Given the description of an element on the screen output the (x, y) to click on. 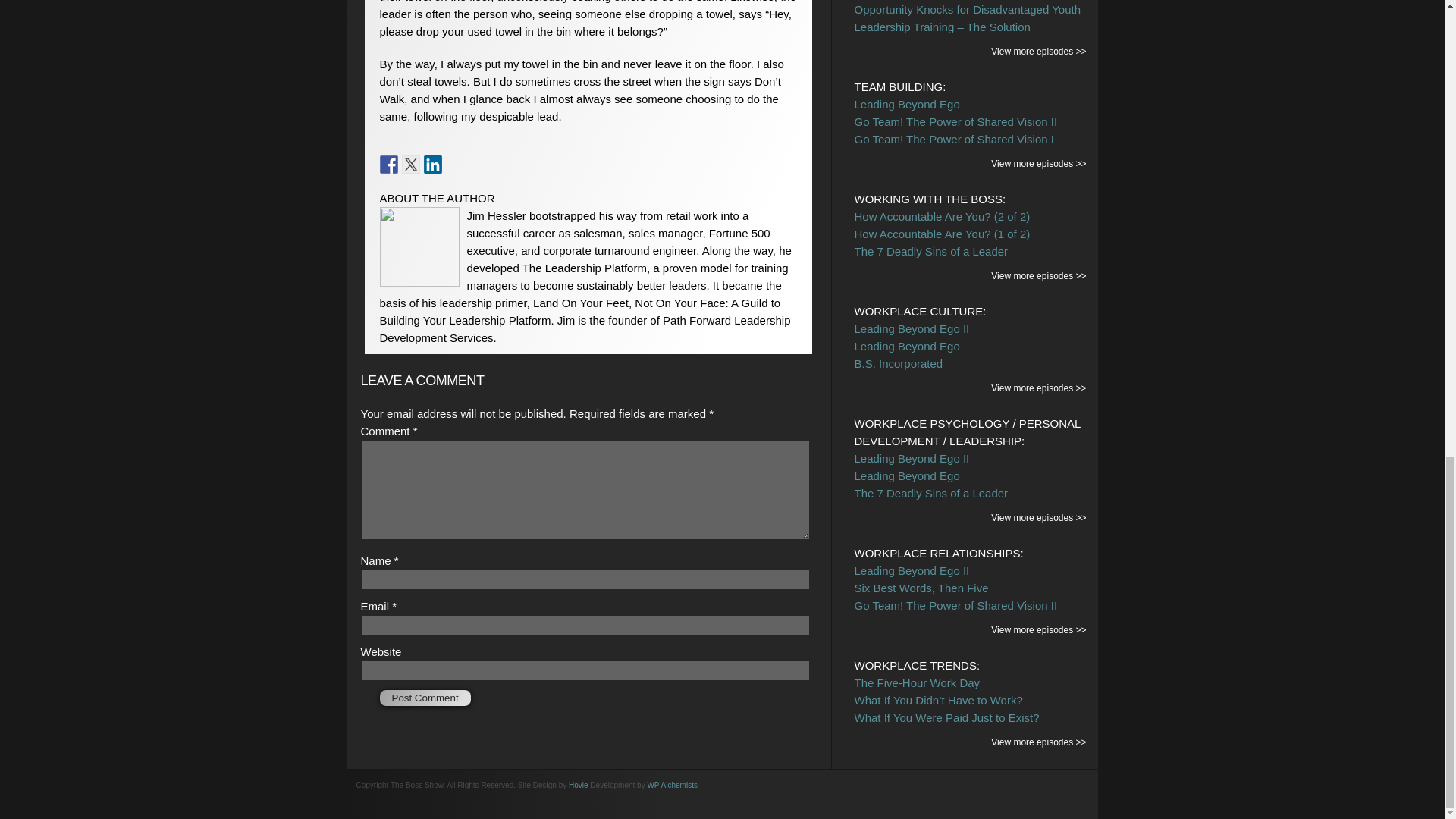
Share on Twitter (410, 164)
Share on Linkedin (432, 164)
Post Comment (424, 697)
Post Comment (424, 697)
Share on Facebook (387, 164)
